Given the description of an element on the screen output the (x, y) to click on. 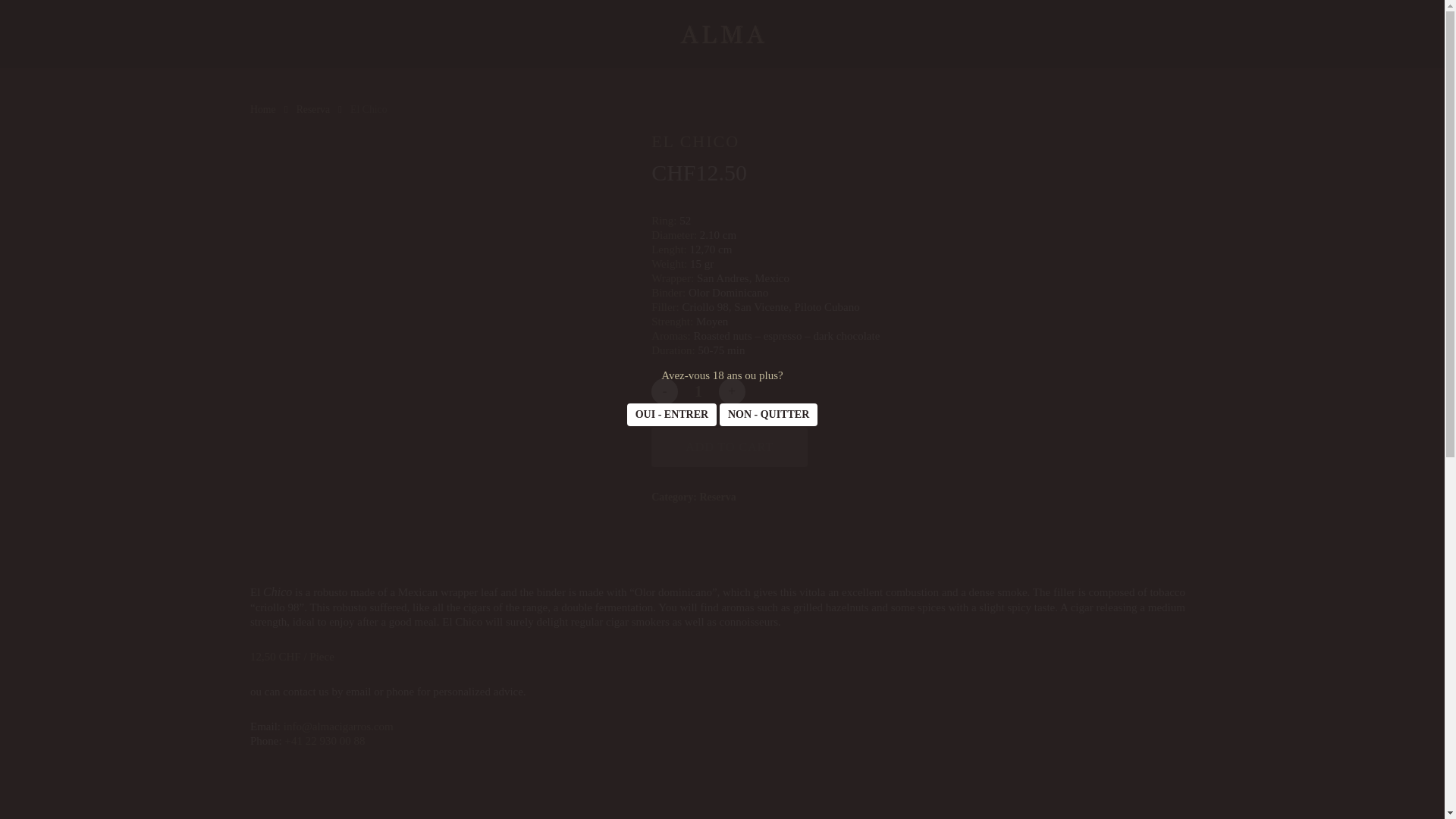
Reserva (313, 109)
NON - QUITTER (767, 414)
OUI - ENTRER (671, 414)
About (400, 555)
Home (263, 109)
- (664, 391)
Reserva (716, 496)
Our services (400, 579)
Our cigars (400, 606)
Contact (400, 633)
1 (698, 391)
ADD TO CART (729, 446)
